Given the description of an element on the screen output the (x, y) to click on. 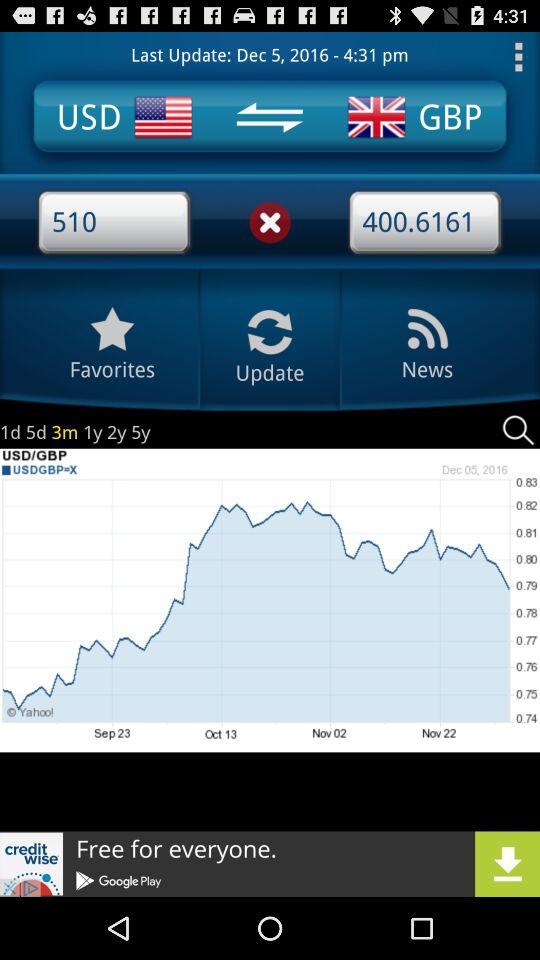
this is button for interchange the usd and gbp (269, 117)
